Given the description of an element on the screen output the (x, y) to click on. 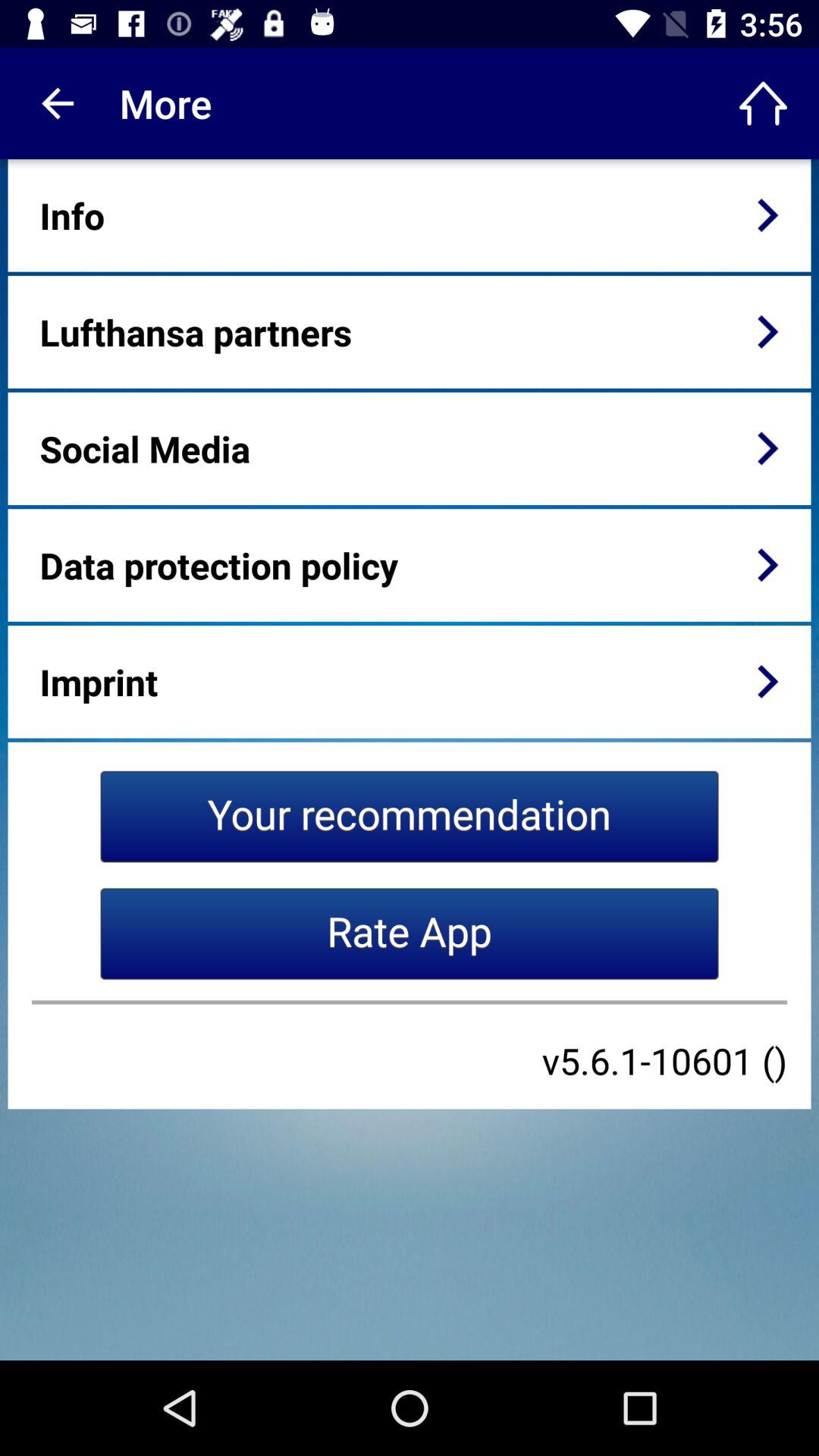
select the icon below info (195, 331)
